Given the description of an element on the screen output the (x, y) to click on. 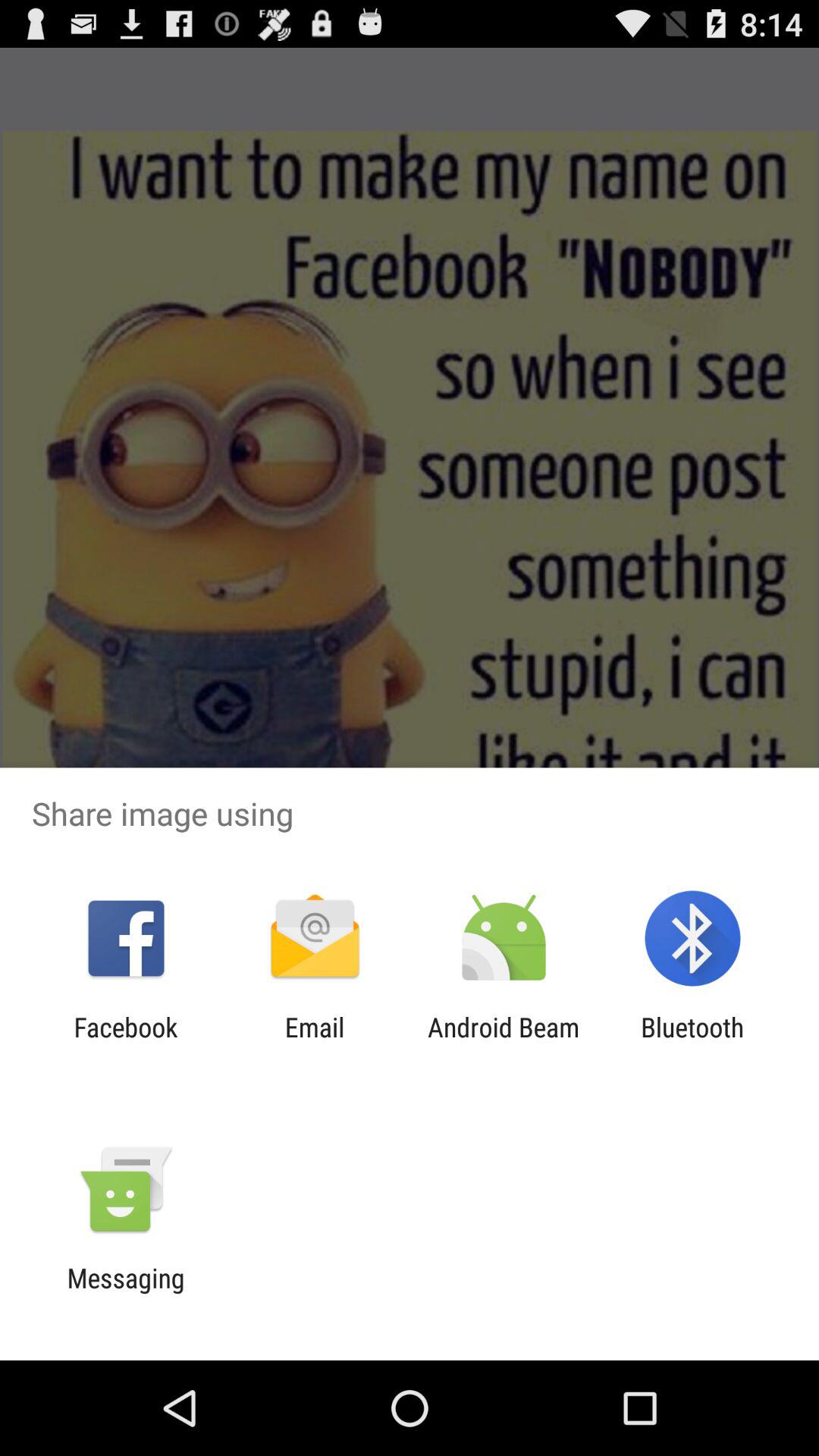
tap android beam (503, 1042)
